Given the description of an element on the screen output the (x, y) to click on. 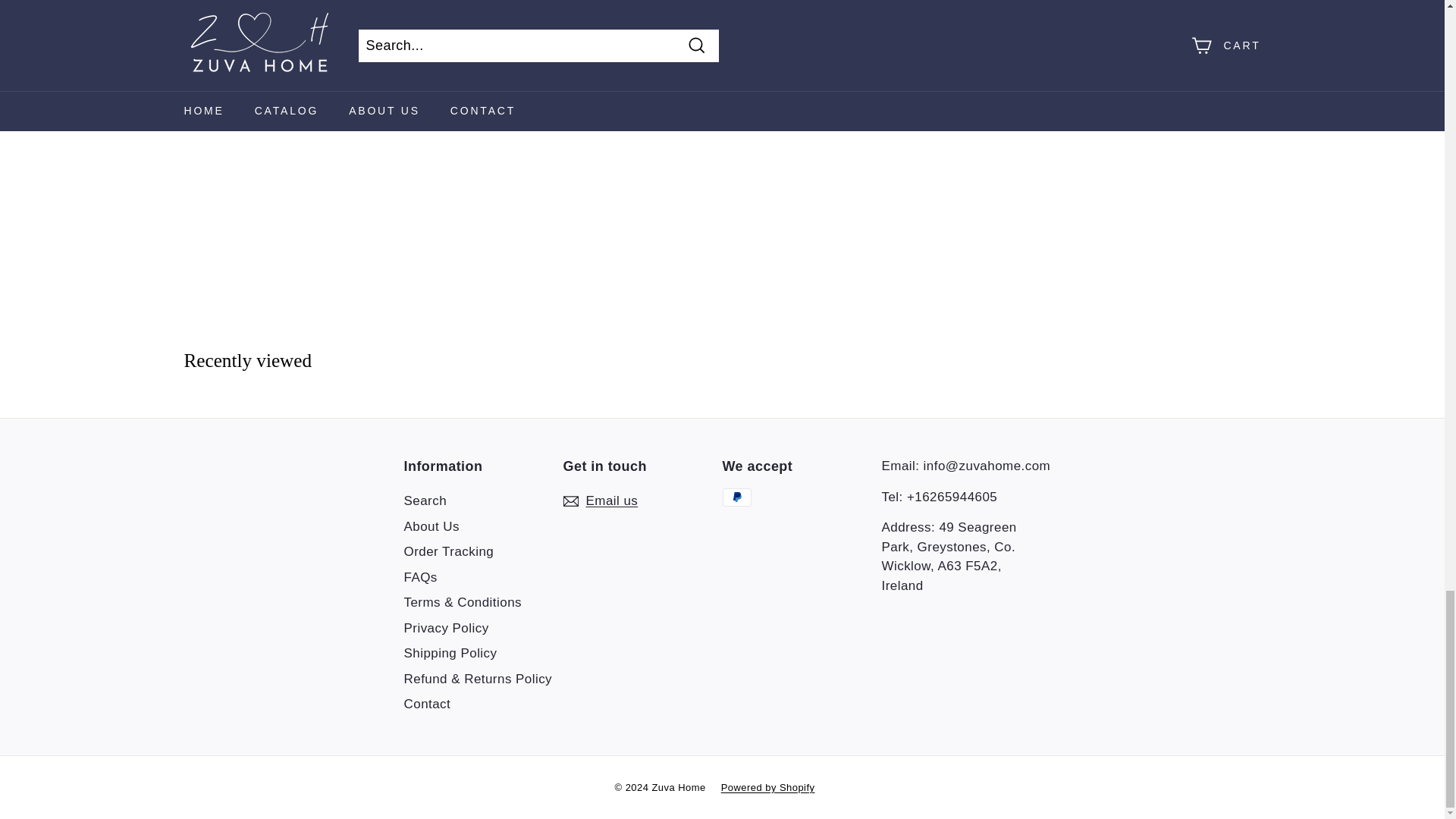
PayPal (736, 497)
